Given the description of an element on the screen output the (x, y) to click on. 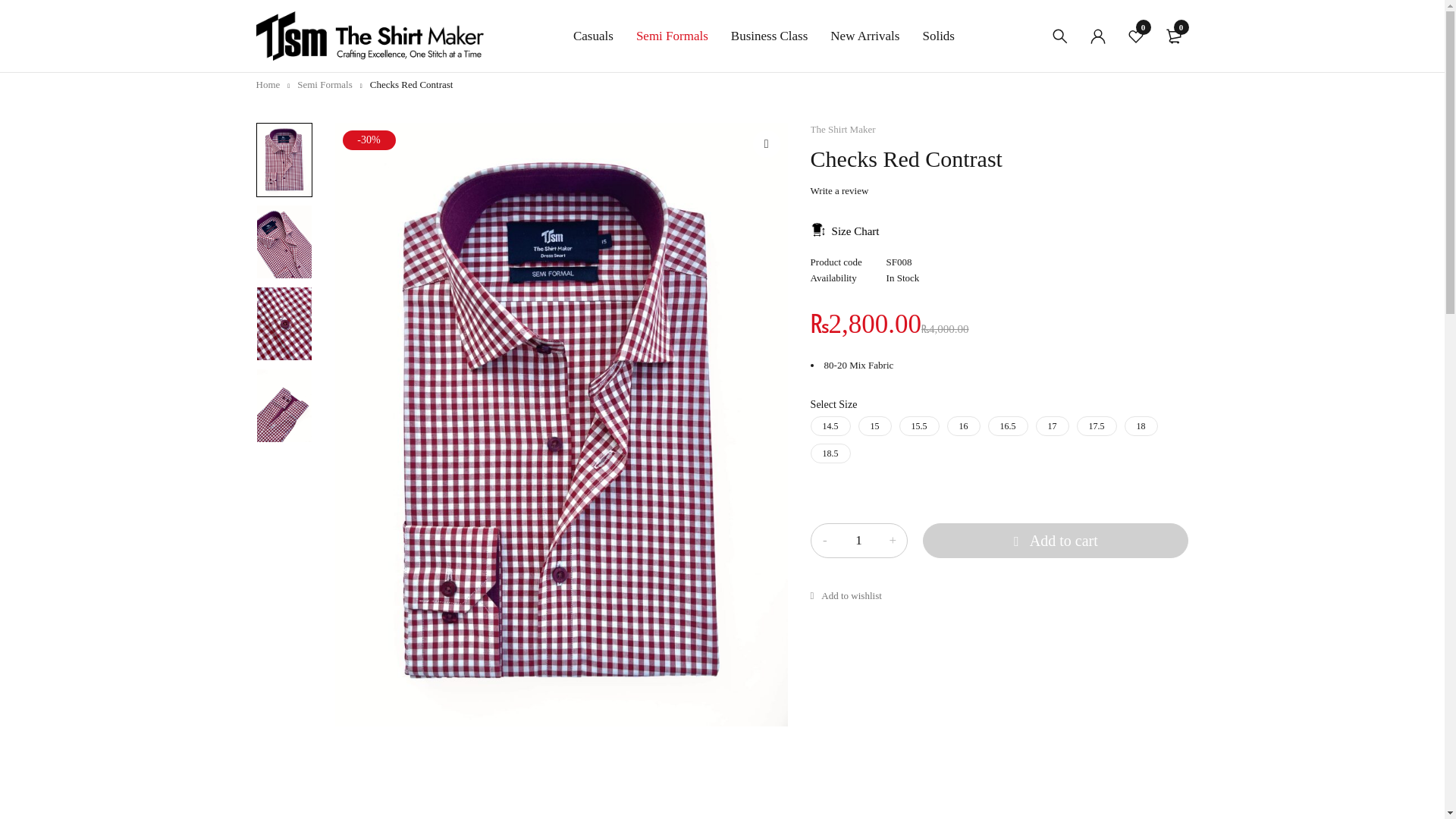
Write a review (839, 191)
16 (963, 425)
Business Class (769, 35)
Solids (938, 35)
Theshirtmaker.pk (369, 35)
15 (875, 425)
Casuals (592, 35)
16.5 (1007, 425)
14.5 (830, 425)
Semi Formals (324, 84)
Size Chart (844, 229)
18 (1140, 425)
Home (268, 84)
1 (858, 540)
17 (1051, 425)
